Given the description of an element on the screen output the (x, y) to click on. 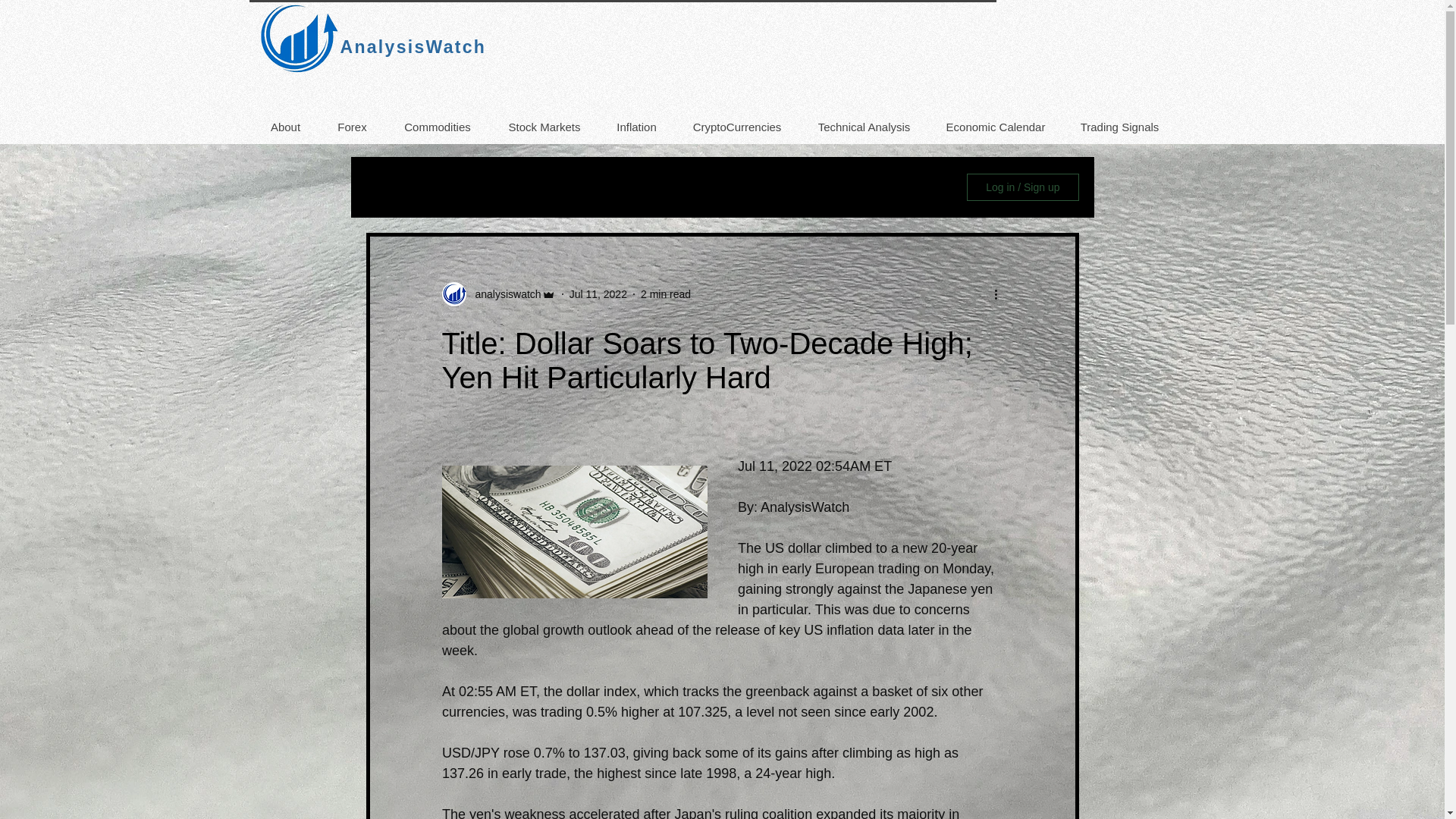
Stock Markets (543, 127)
Jul 11, 2022 (598, 294)
CryptoCurrencies (735, 127)
analysiswatch (502, 294)
Economic Calendar (995, 127)
Inflation (636, 127)
2 min read (665, 294)
About (284, 127)
Technical Analysis (863, 127)
Forex (351, 127)
AnalysisWatch (412, 46)
Commodities (437, 127)
